Given the description of an element on the screen output the (x, y) to click on. 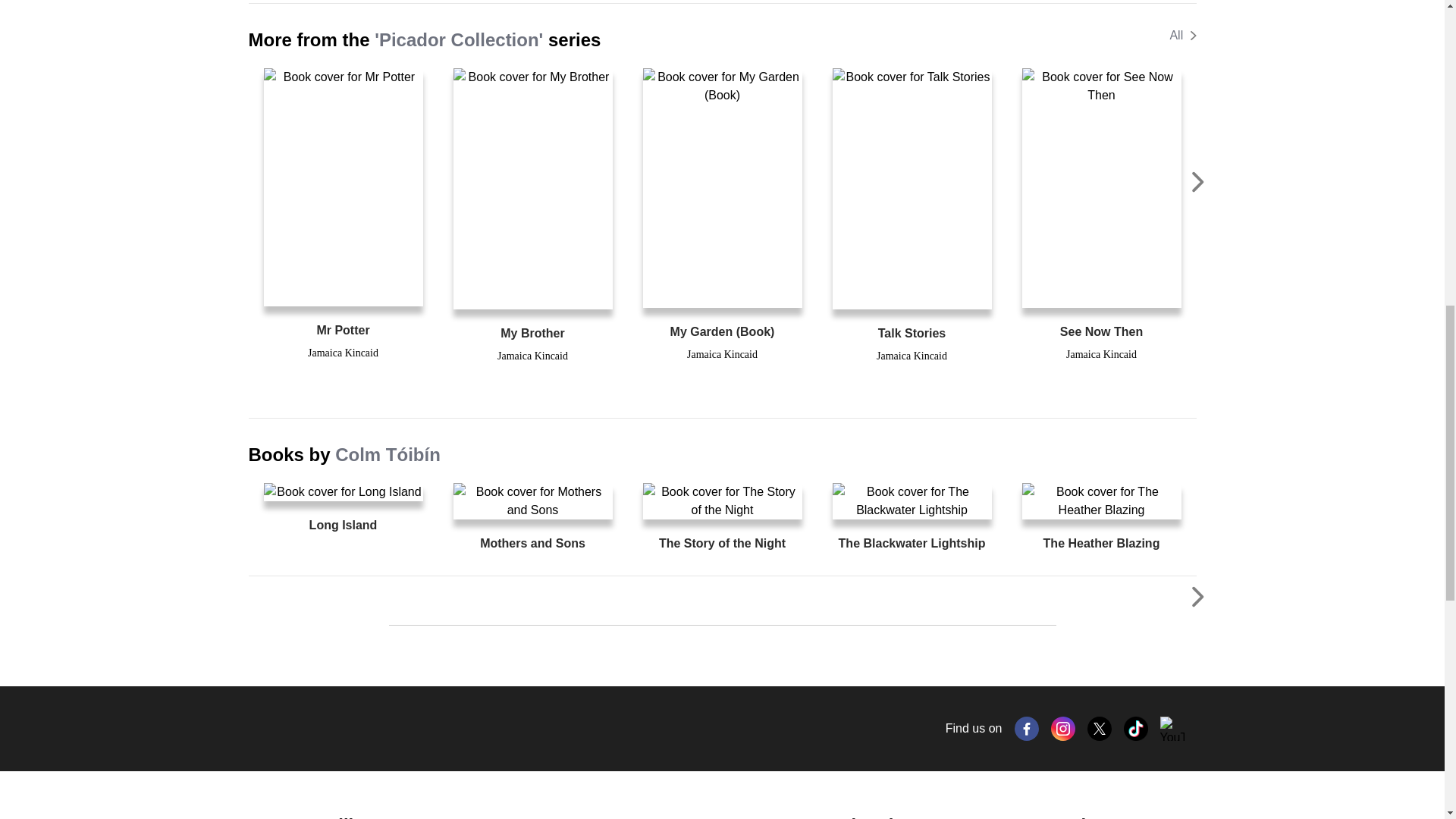
Instagram (1063, 728)
TikTok (1136, 728)
YouTube (1172, 728)
Facebook (1026, 728)
